Given the description of an element on the screen output the (x, y) to click on. 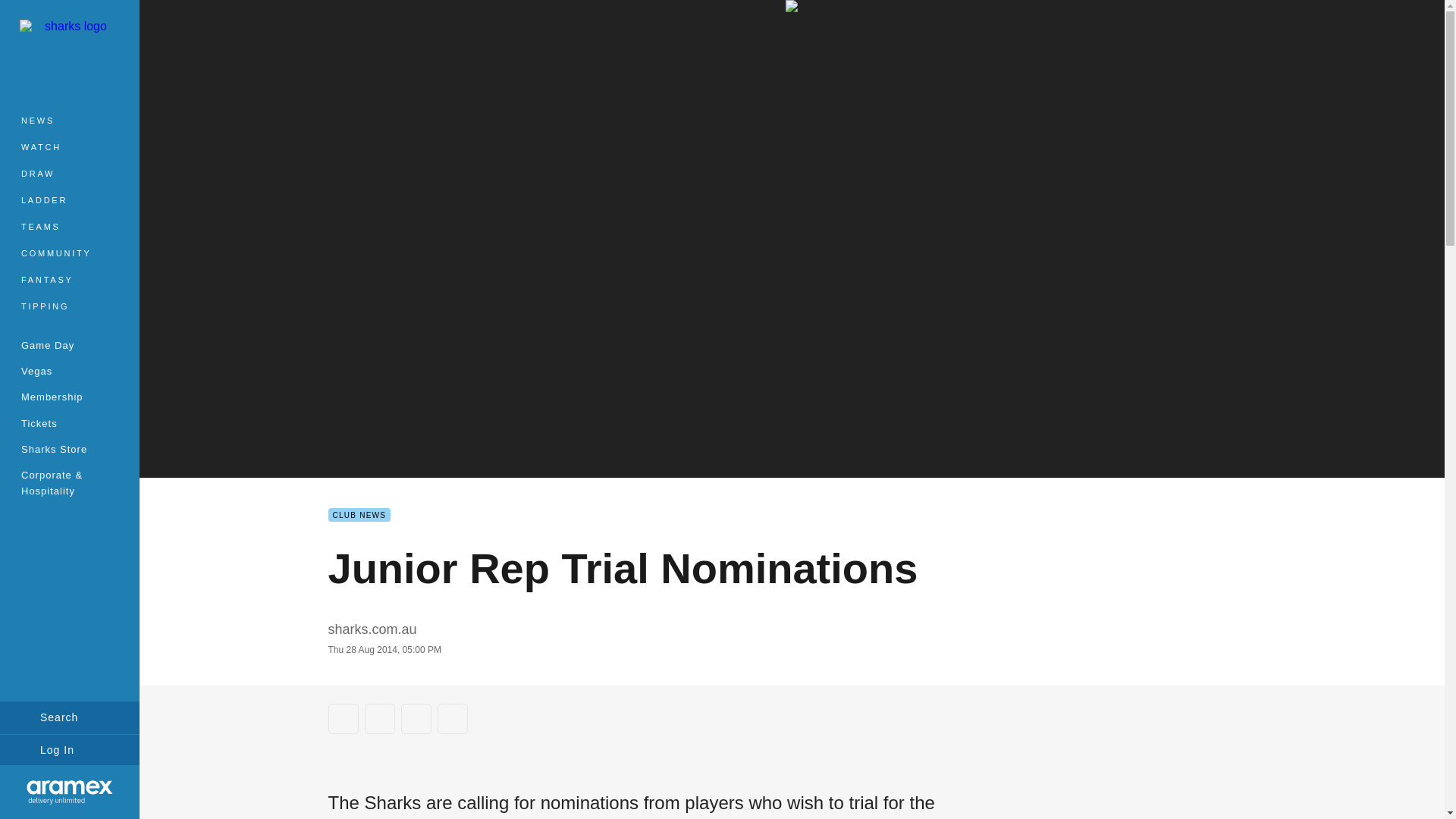
CLUB NEWS (358, 514)
Log In (69, 749)
Vegas (69, 370)
NEWS (69, 120)
Share via Twitter (379, 718)
FANTASY (69, 279)
Game Day (69, 344)
WATCH (69, 147)
COMMUNITY (69, 253)
Sharks Store (69, 448)
LADDER (69, 200)
Share via Reddit (415, 718)
Share via Email (451, 718)
TIPPING (69, 306)
Share via Facebook (342, 718)
